Given the description of an element on the screen output the (x, y) to click on. 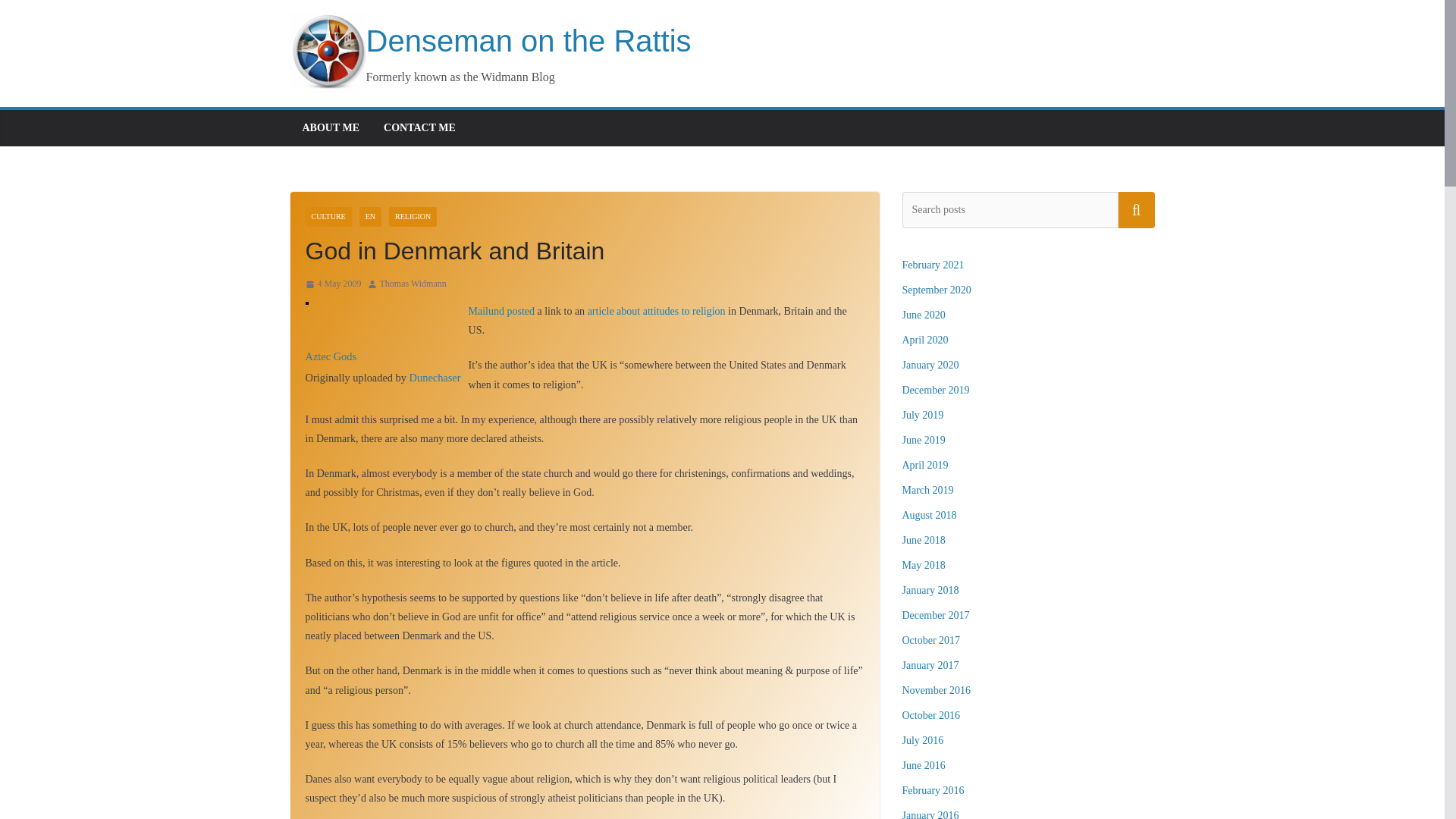
20:58 (332, 284)
June 2020 (923, 315)
April 2020 (925, 339)
Denseman on the Rattis (489, 40)
article about attitudes to religion (656, 310)
ABOUT ME (330, 127)
4 May 2009 (332, 284)
Aztec Gods (330, 356)
June 2019 (923, 439)
February 2021 (932, 265)
RELIGION (412, 216)
Dunechaser (435, 377)
September 2020 (936, 289)
Mailund posted (501, 310)
CONTACT ME (419, 127)
